Given the description of an element on the screen output the (x, y) to click on. 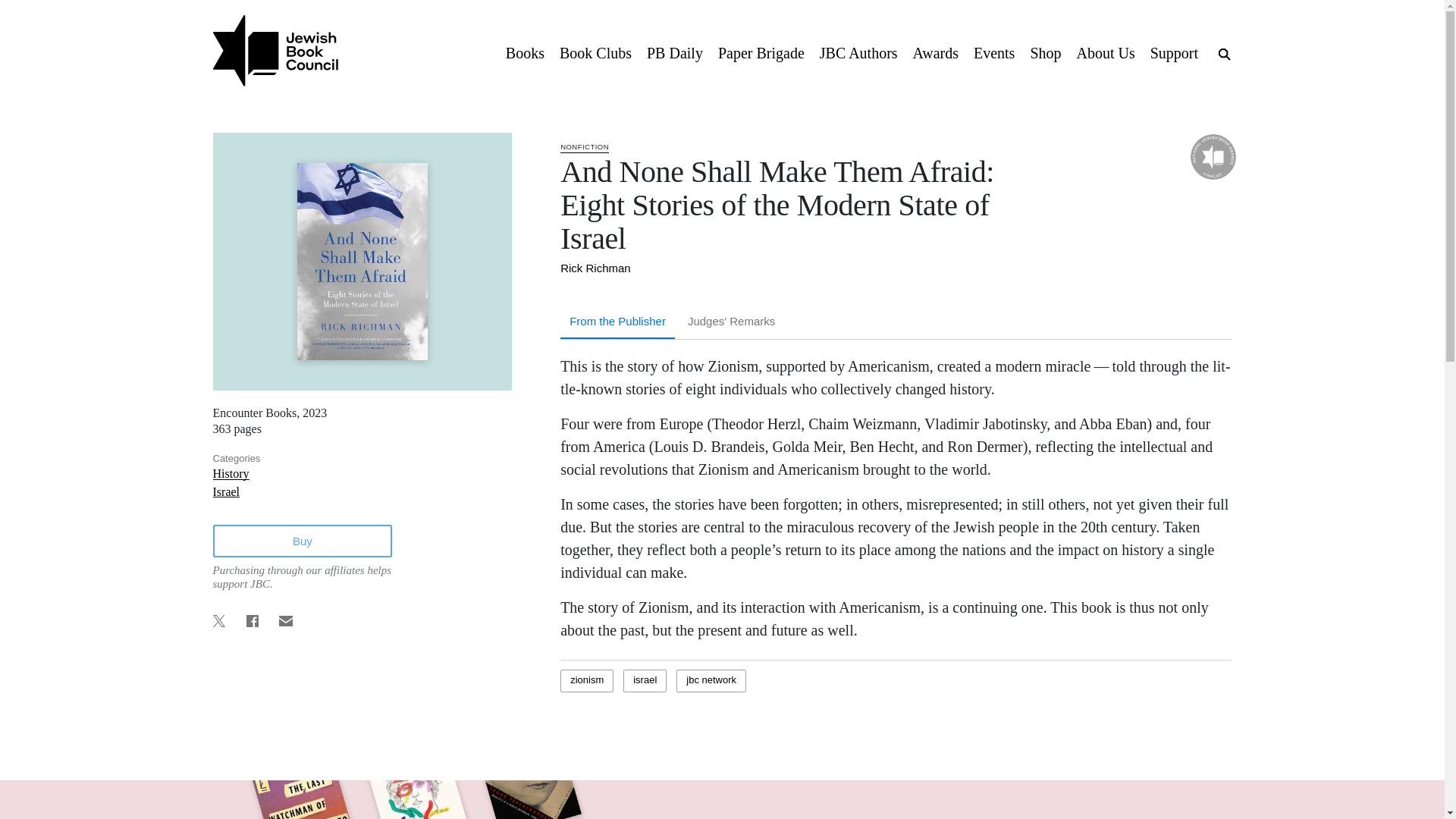
PB Daily (674, 52)
Awards (935, 52)
JBC Authors (858, 52)
Book Clubs (595, 52)
Paper Brigade (761, 52)
Books (524, 52)
